Given the description of an element on the screen output the (x, y) to click on. 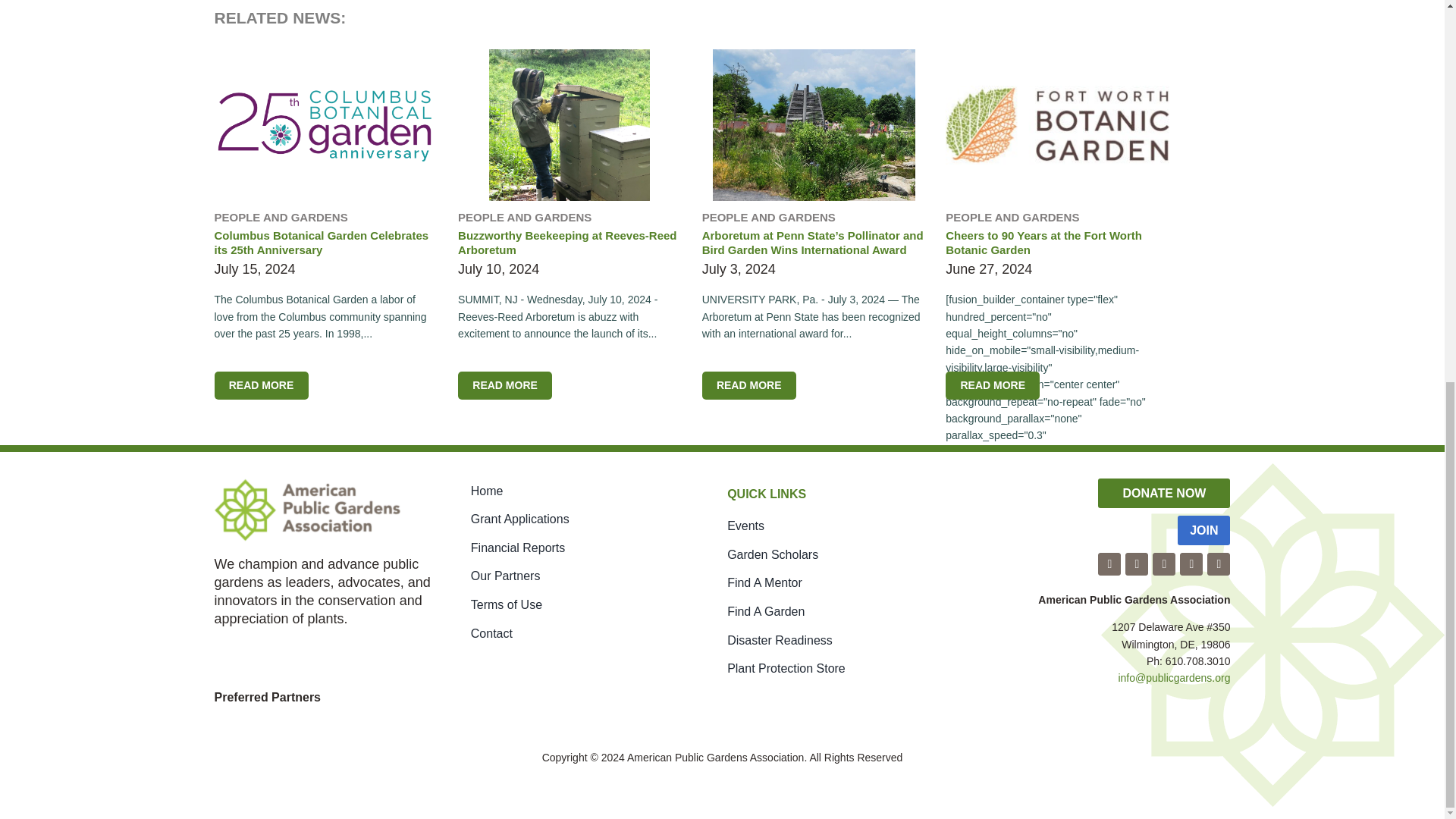
Columbus Botanical Garden Celebrates its 25th Anniversary (260, 384)
Buzzworthy Beekeeping at Reeves-Reed Arboretum (504, 384)
Cheers to 90 Years at the Fort Worth Botanic Garden (991, 384)
